Given the description of an element on the screen output the (x, y) to click on. 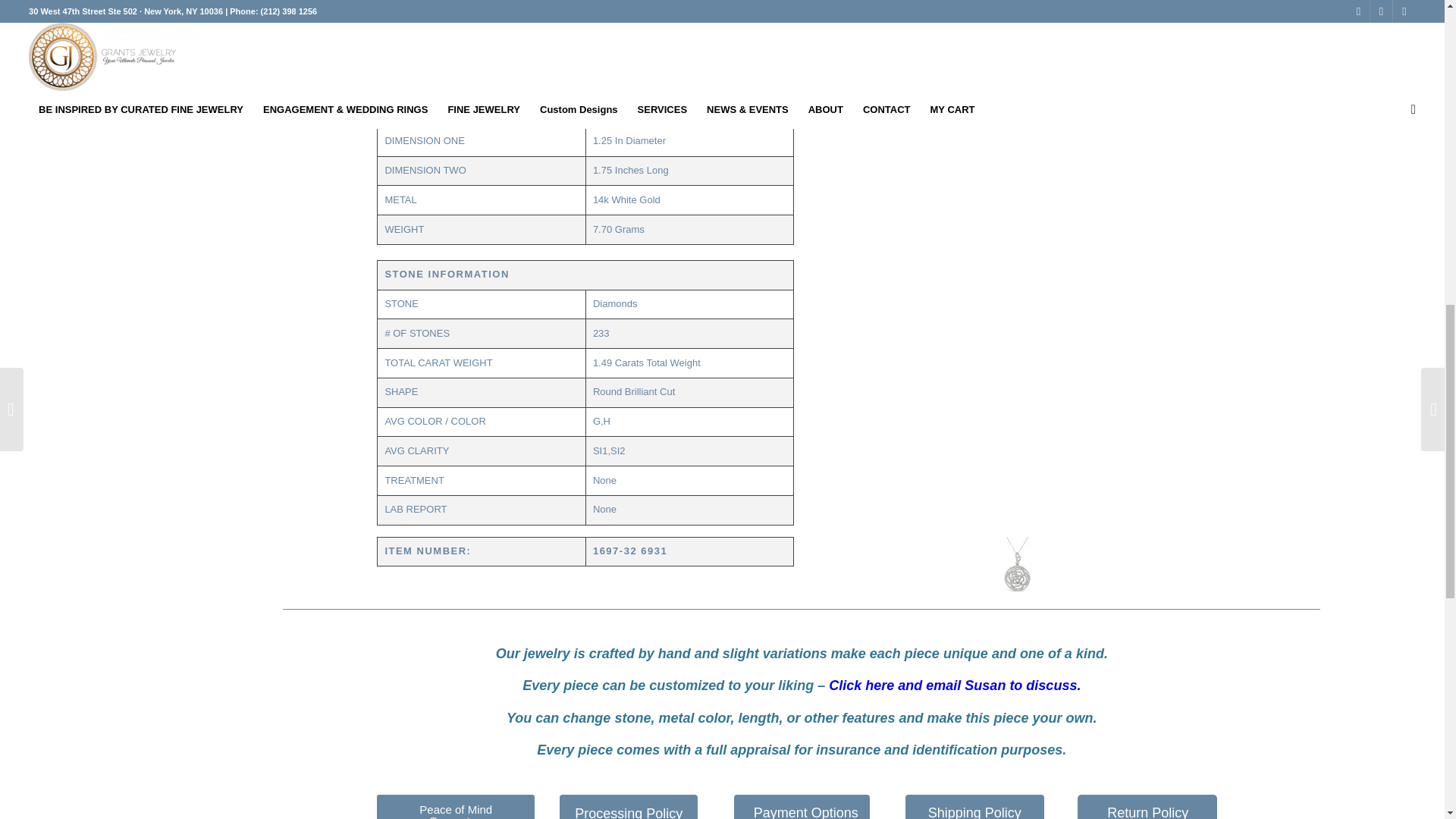
Email Susan (954, 685)
